Given the description of an element on the screen output the (x, y) to click on. 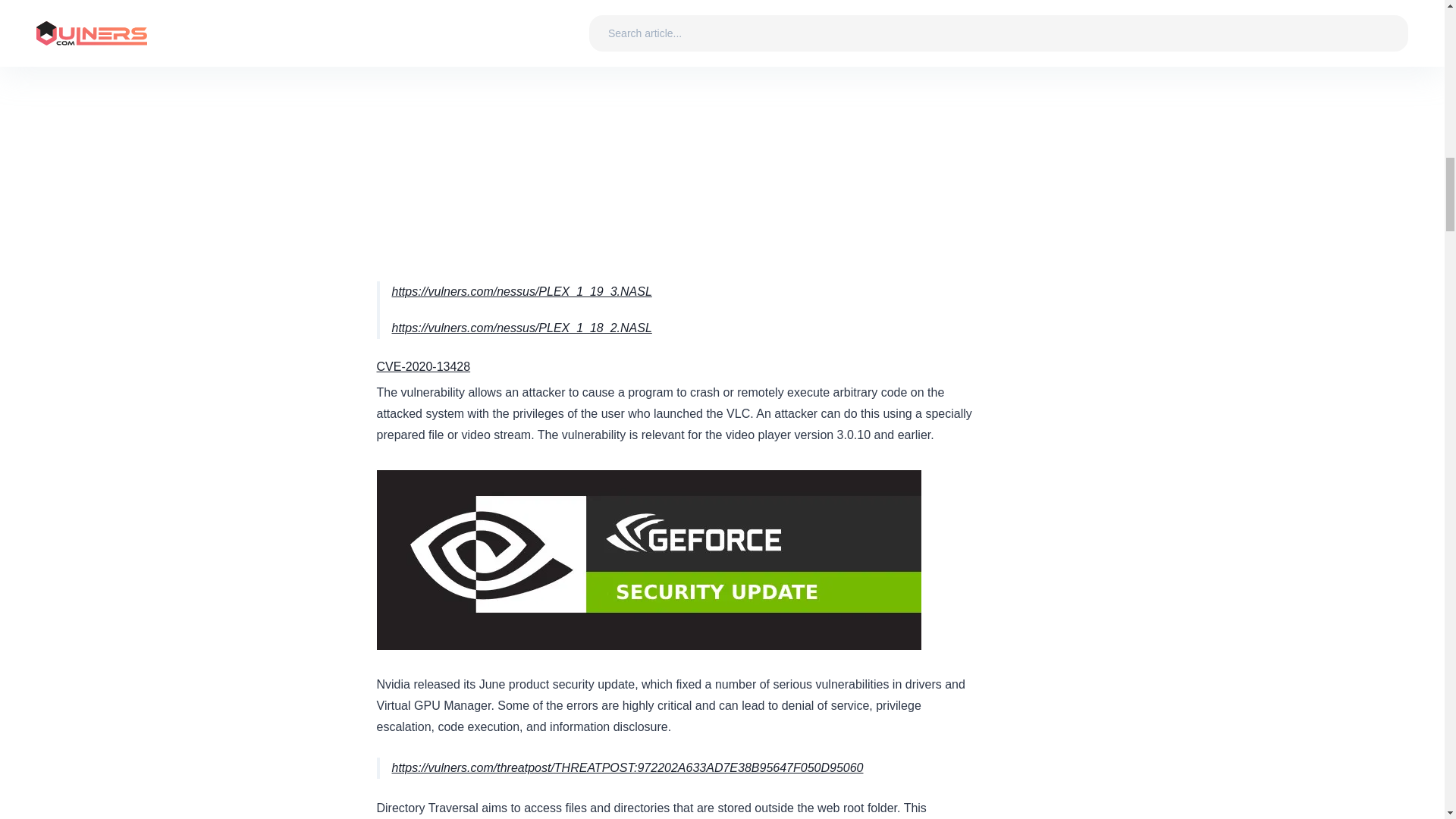
CVE-2020-13428 (422, 366)
